Given the description of an element on the screen output the (x, y) to click on. 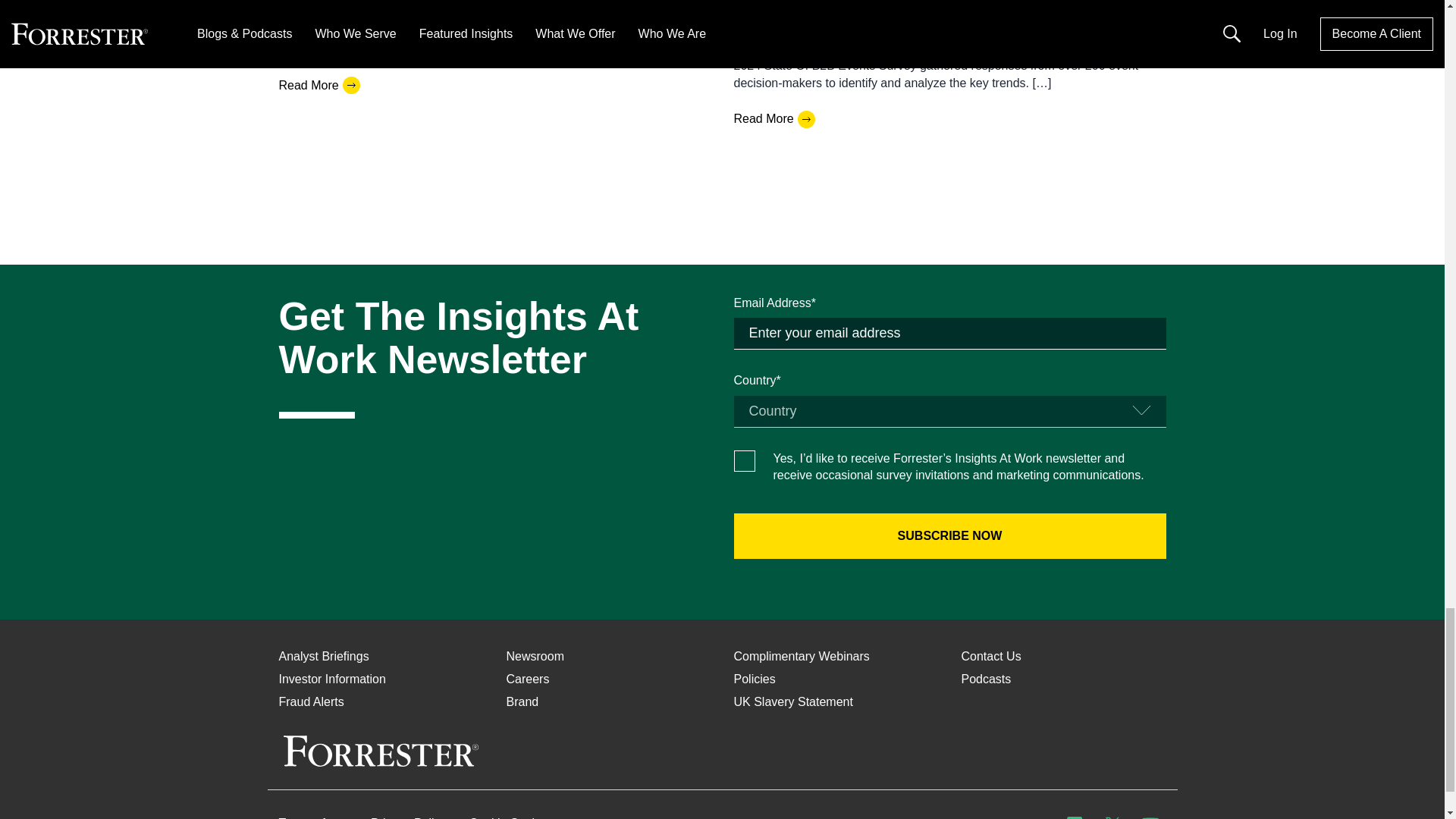
Subscribe Now (949, 535)
